Given the description of an element on the screen output the (x, y) to click on. 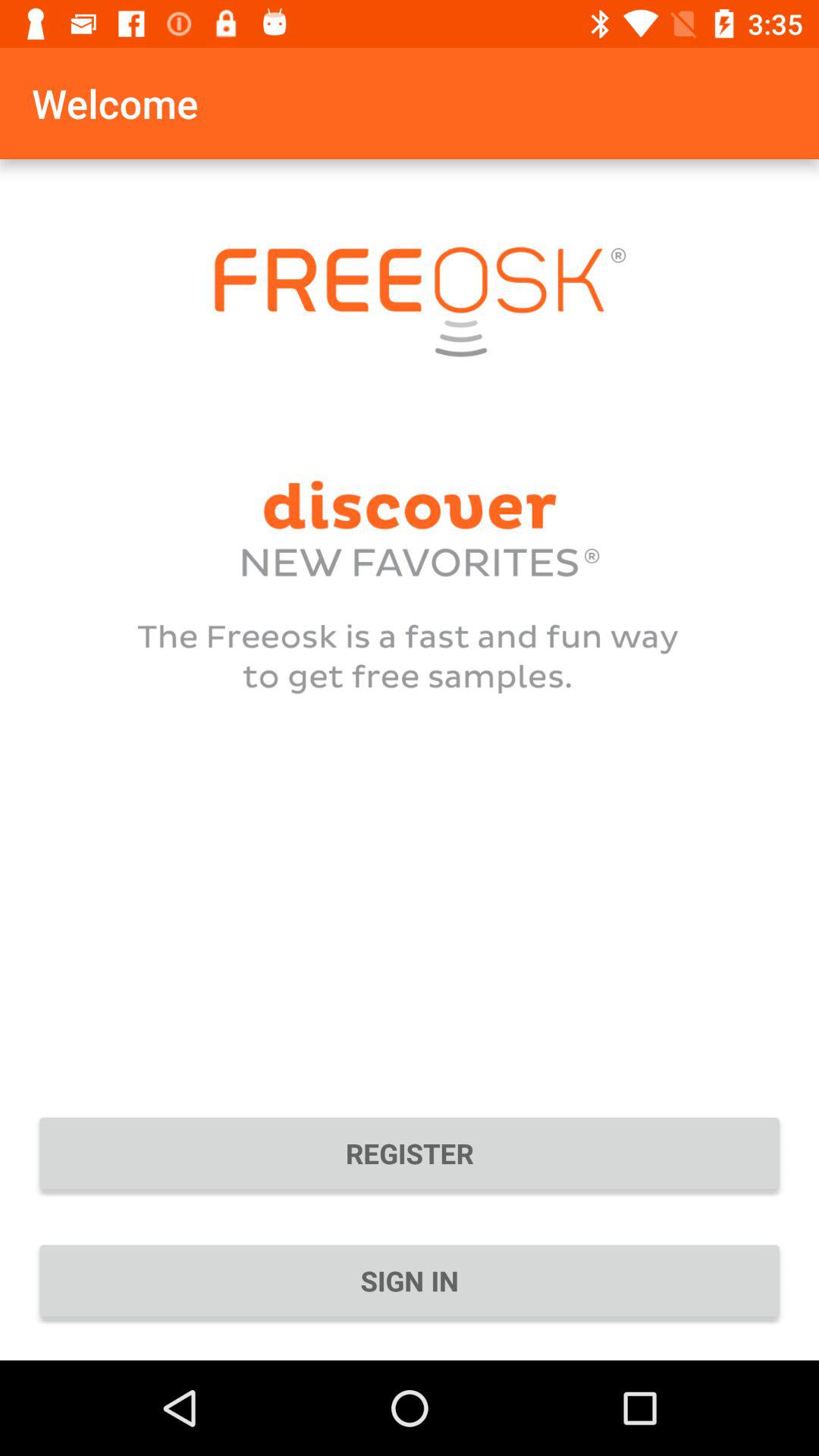
turn on sign in (409, 1280)
